Given the description of an element on the screen output the (x, y) to click on. 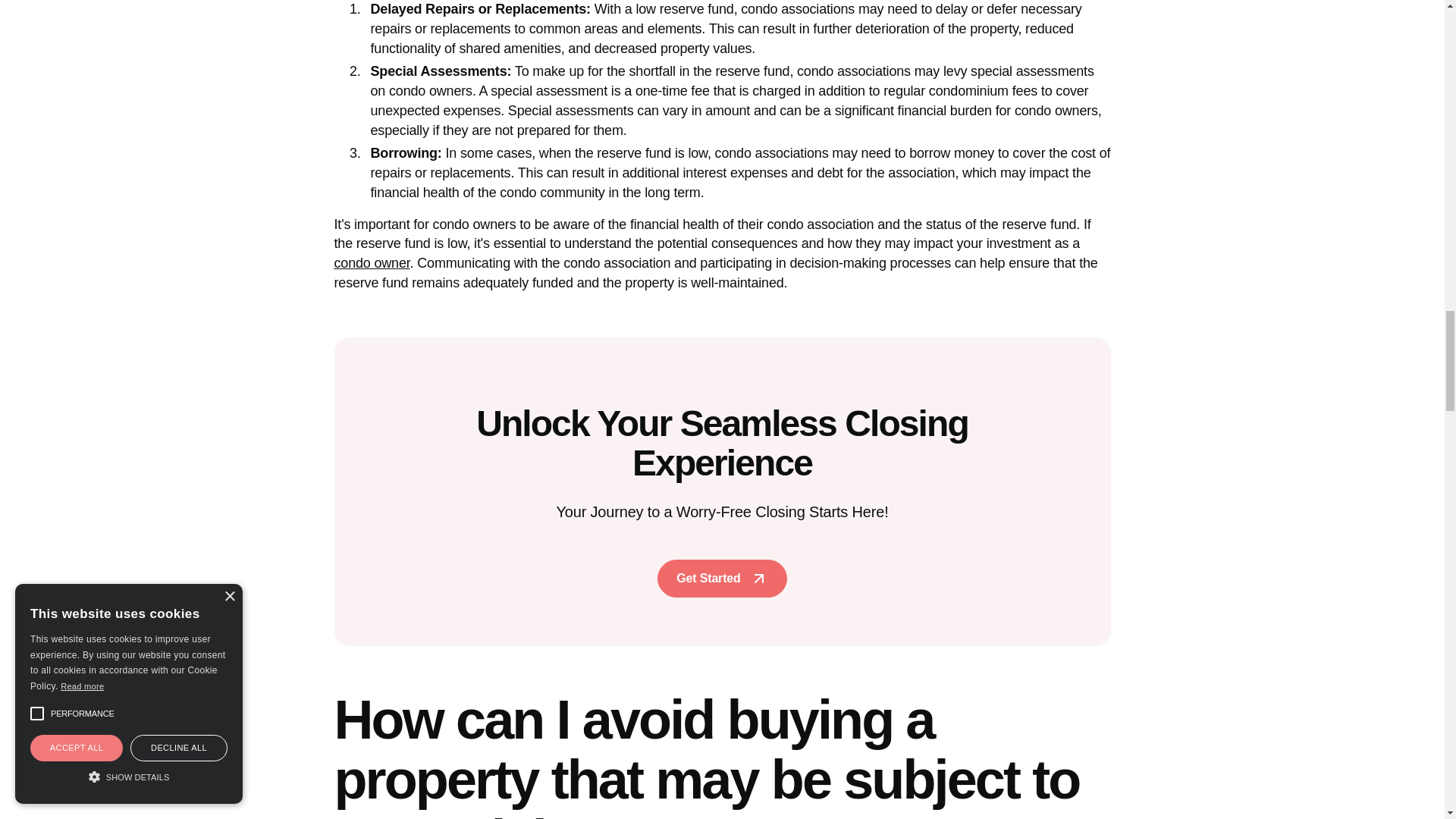
condo owner (371, 263)
Get Started (722, 578)
